Given the description of an element on the screen output the (x, y) to click on. 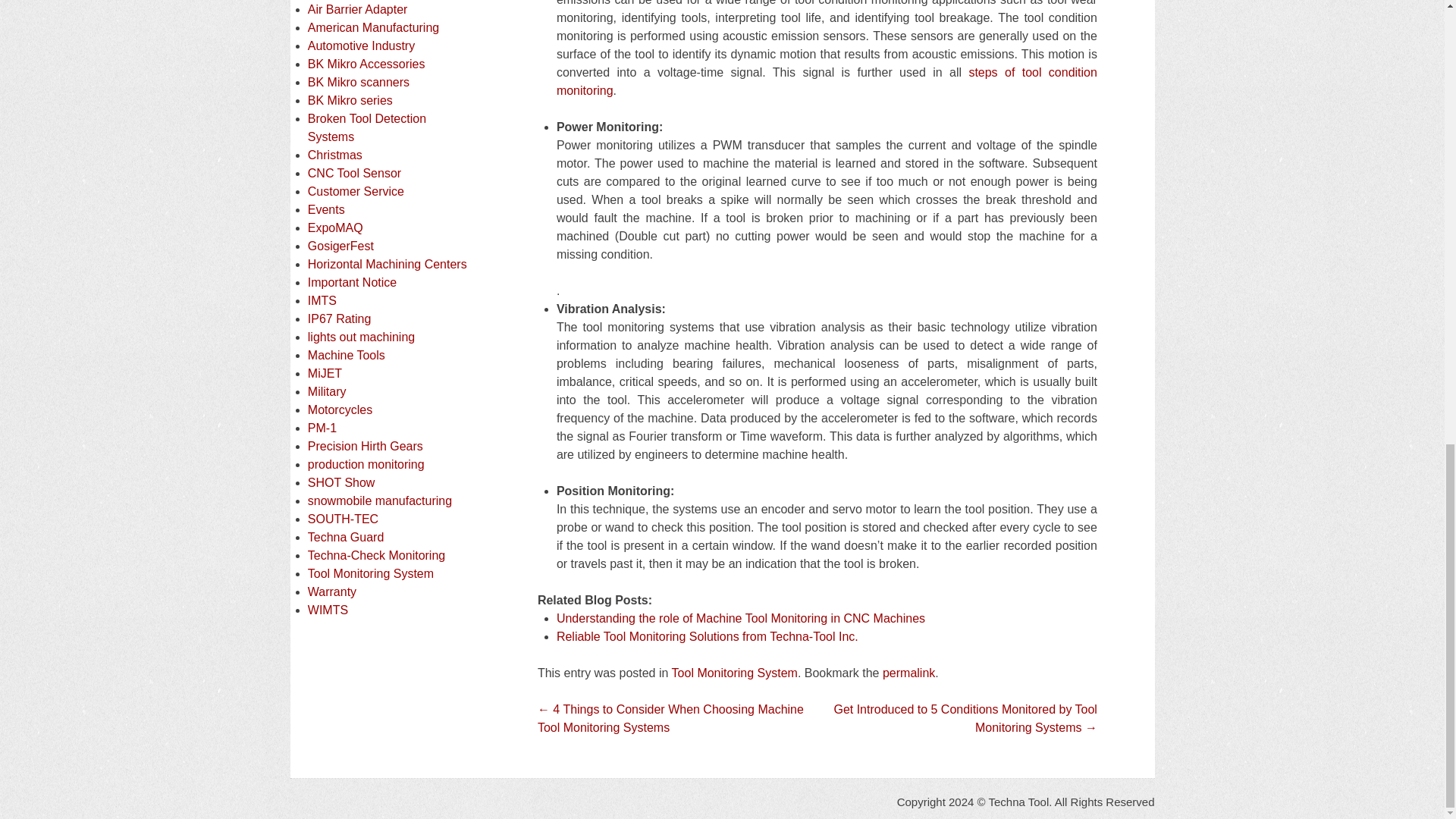
Christmas (334, 154)
Air Barrier Adapter (357, 9)
BK Mikro scanners (358, 82)
CNC Tool Sensor (354, 173)
permalink (908, 672)
steps of tool condition monitoring (826, 81)
Automotive Industry (360, 45)
BK Mikro series (350, 100)
GosigerFest (340, 245)
ExpoMAQ (334, 227)
Reliable Tool Monitoring Solutions from Techna-Tool Inc. (707, 635)
Horizontal Machining Centers (387, 264)
American Manufacturing (373, 27)
Customer Service (355, 191)
Events (326, 209)
